Given the description of an element on the screen output the (x, y) to click on. 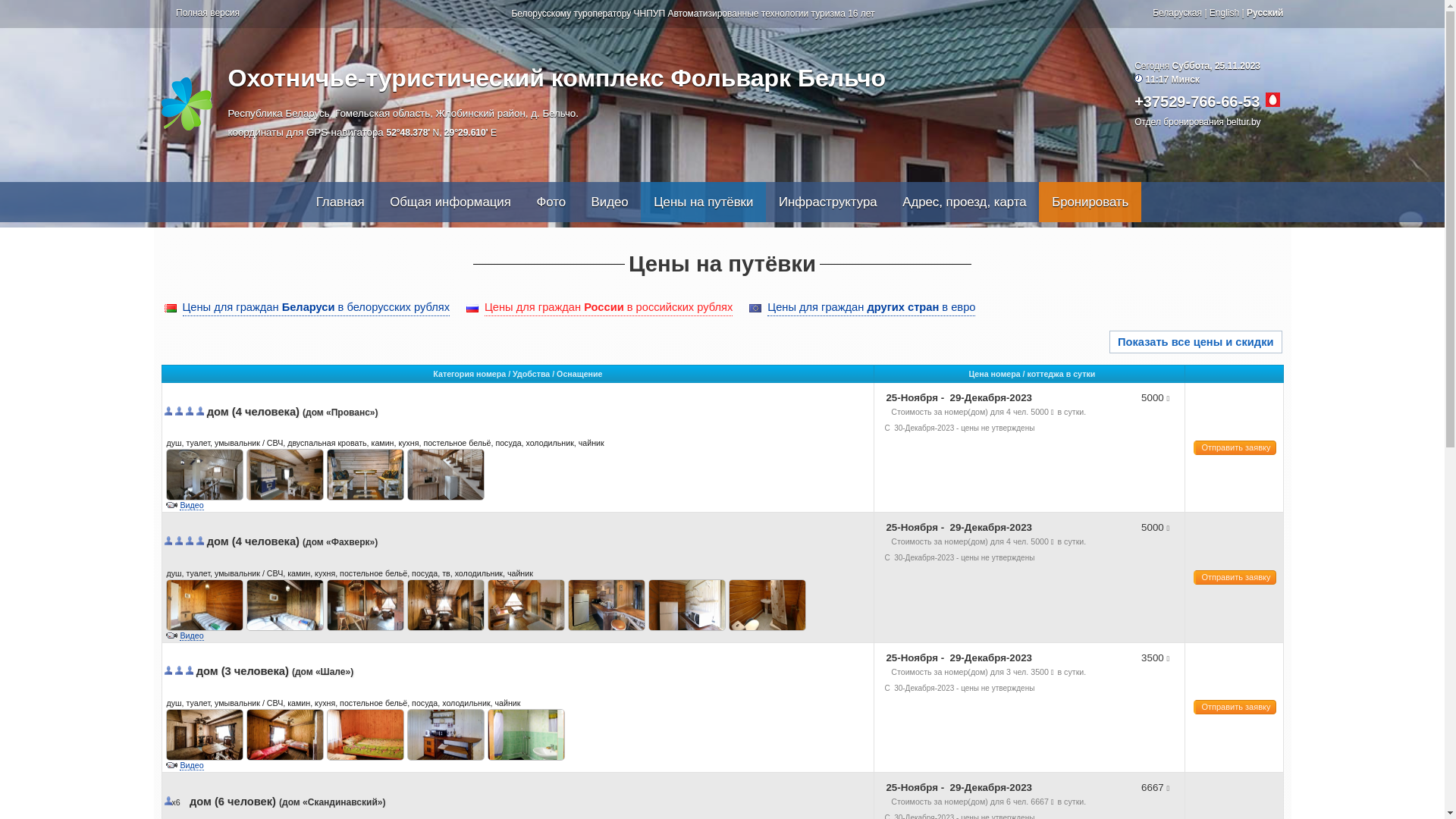
English Element type: text (1224, 12)
+37529-766-66-53 Element type: text (1196, 101)
